Given the description of an element on the screen output the (x, y) to click on. 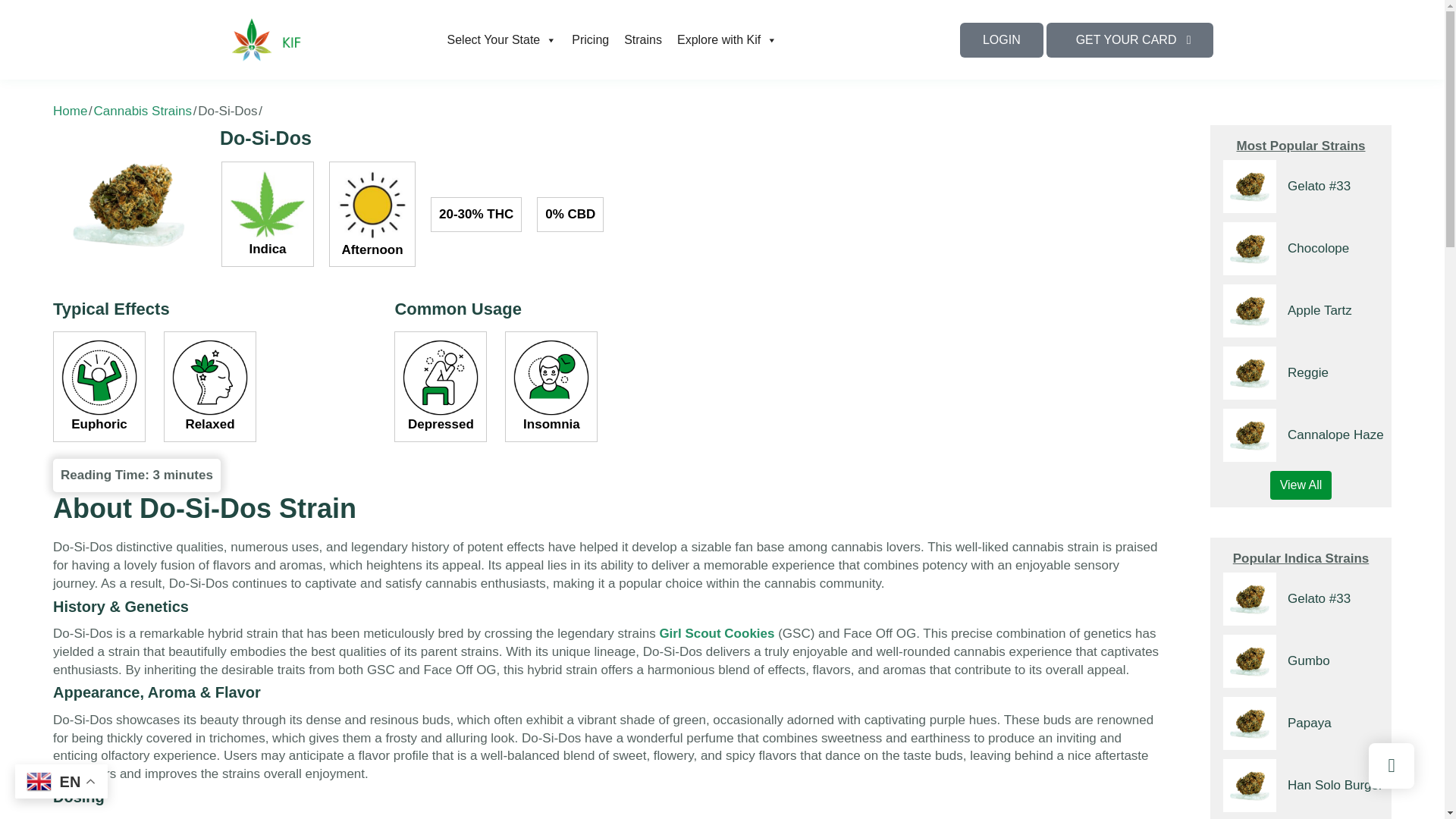
Select Your State (501, 39)
Opens a widget where you can chat to one of our agents (1385, 792)
Pricing (589, 39)
Explore with Kif (726, 39)
Strains (642, 39)
Kif (302, 39)
